Given the description of an element on the screen output the (x, y) to click on. 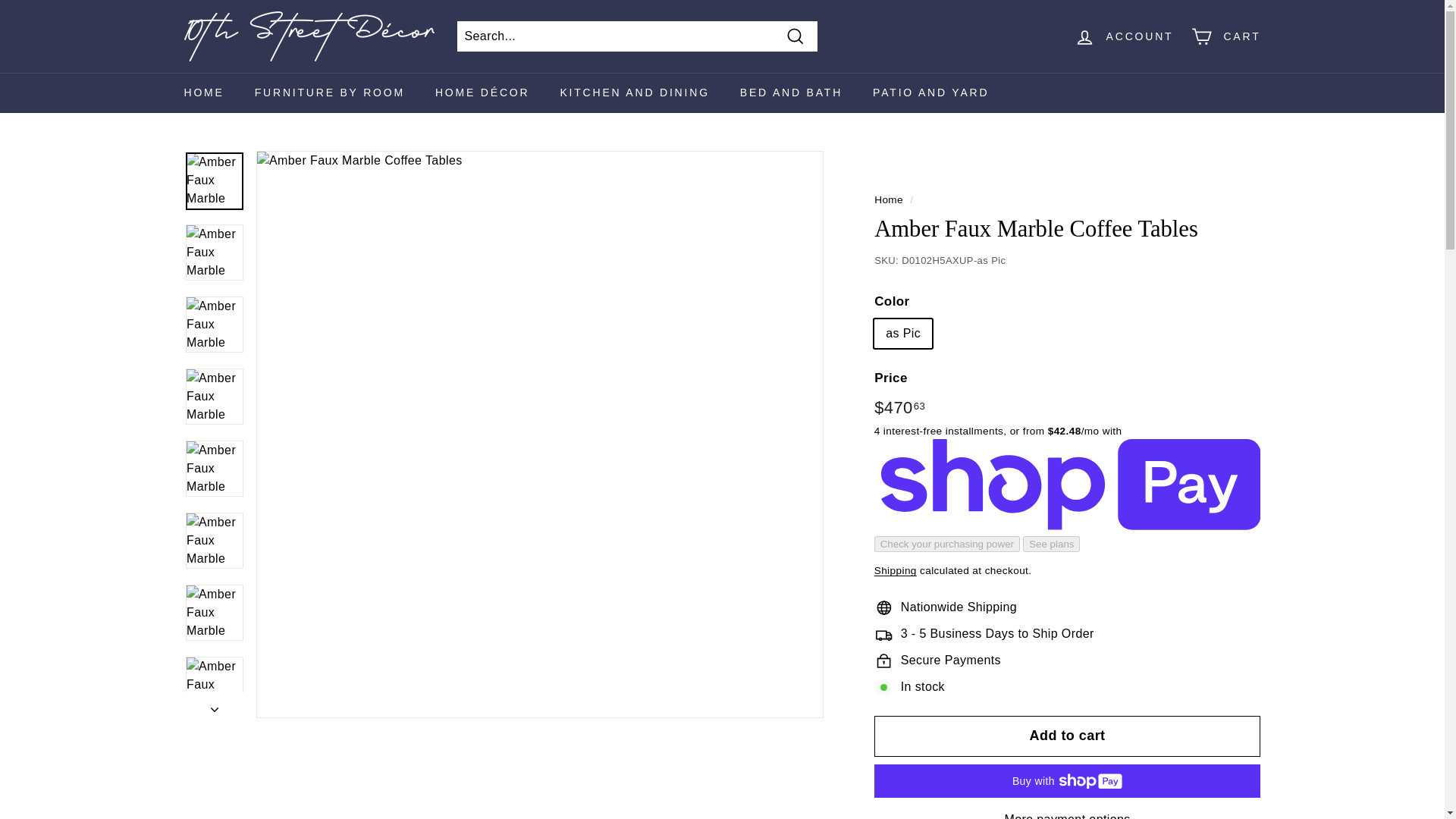
FURNITURE BY ROOM (330, 92)
ACCOUNT (1123, 35)
Back to the frontpage (888, 199)
HOME (203, 92)
